Given the description of an element on the screen output the (x, y) to click on. 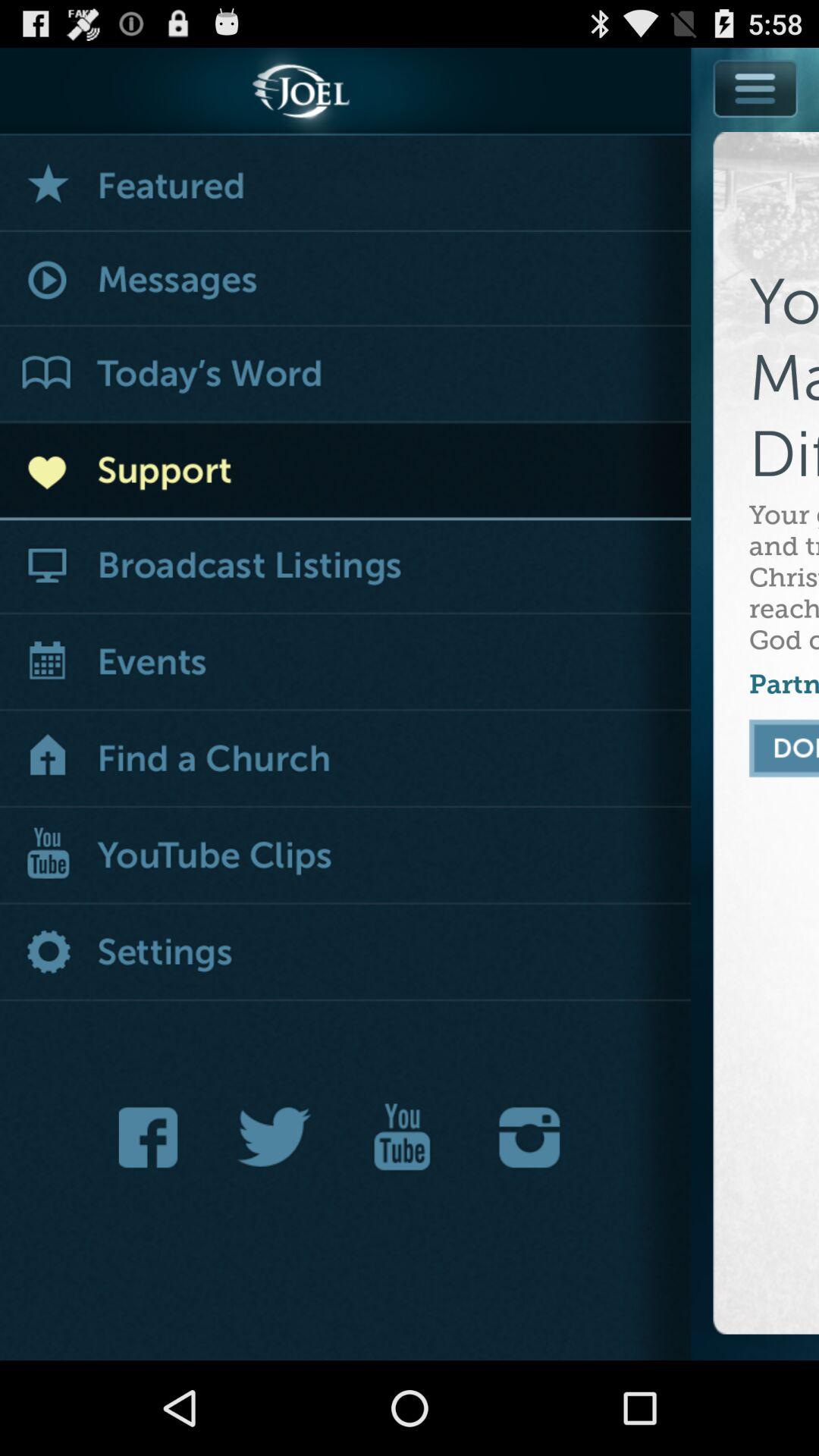
view youtube clips (345, 856)
